Given the description of an element on the screen output the (x, y) to click on. 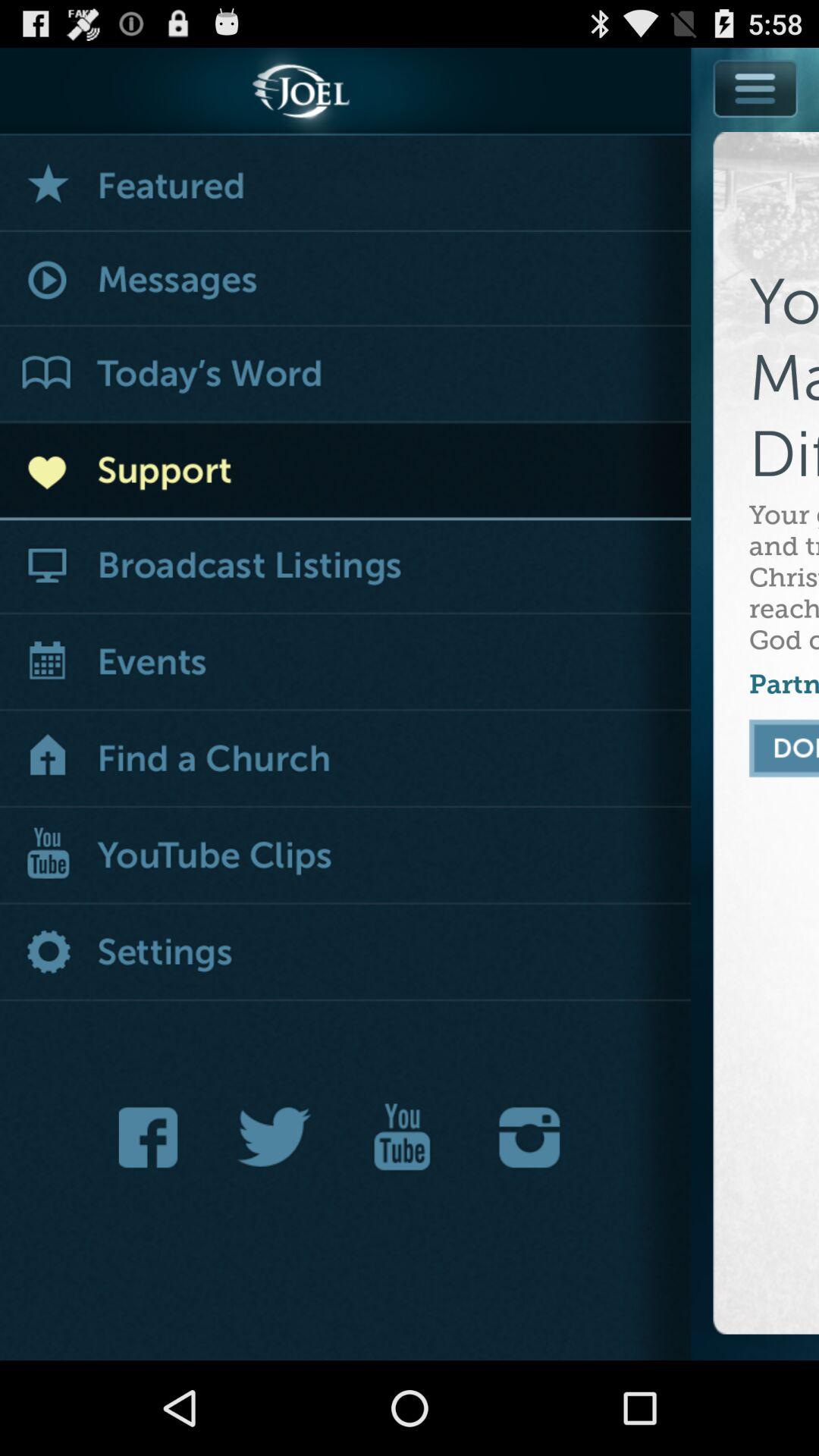
view youtube clips (345, 856)
